Given the description of an element on the screen output the (x, y) to click on. 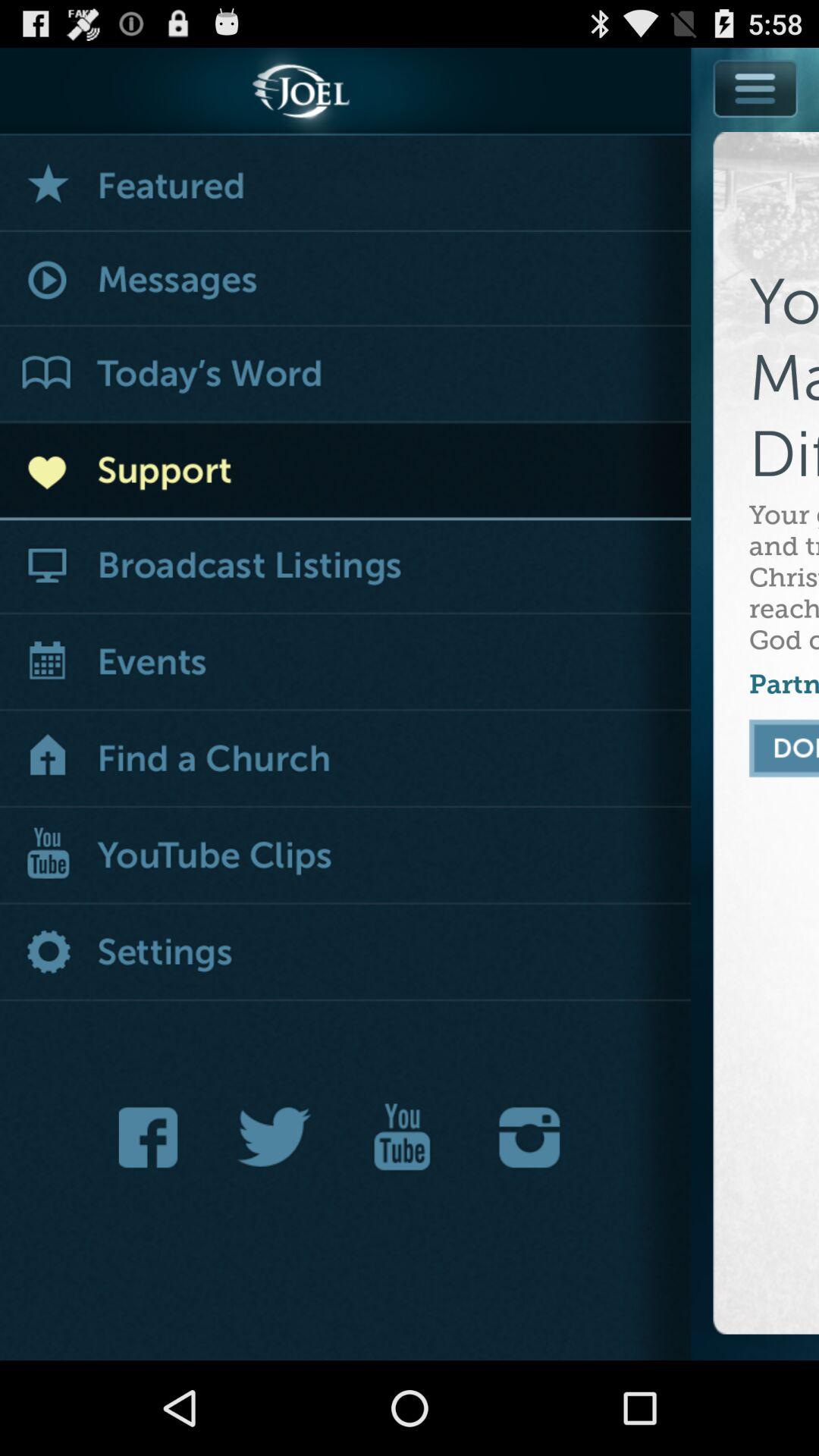
view youtube clips (345, 856)
